Given the description of an element on the screen output the (x, y) to click on. 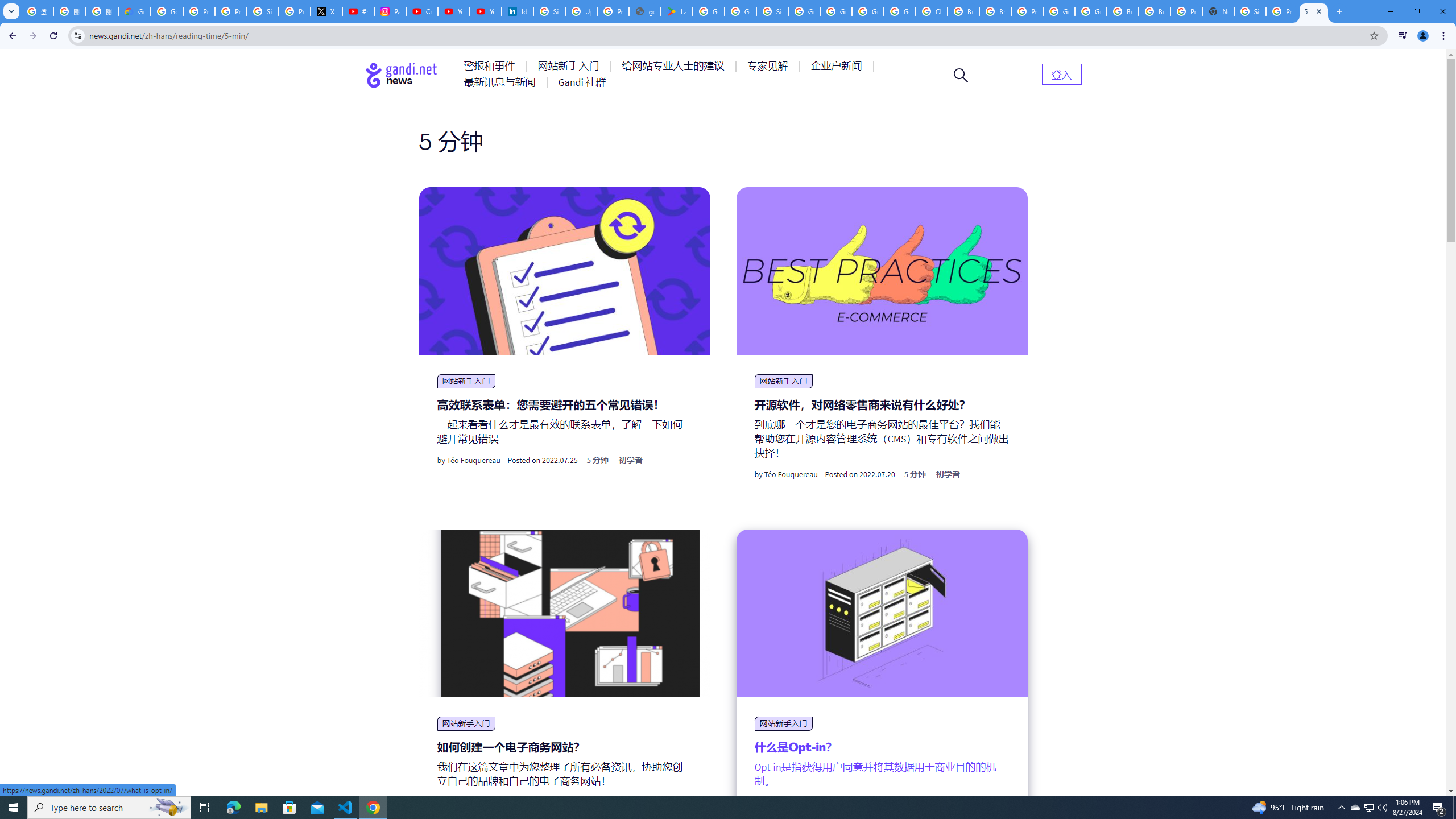
AutomationID: menu-item-77763 (674, 65)
Google Cloud Privacy Notice (134, 11)
Privacy Help Center - Policies Help (230, 11)
Google Cloud Platform (868, 11)
